Given the description of an element on the screen output the (x, y) to click on. 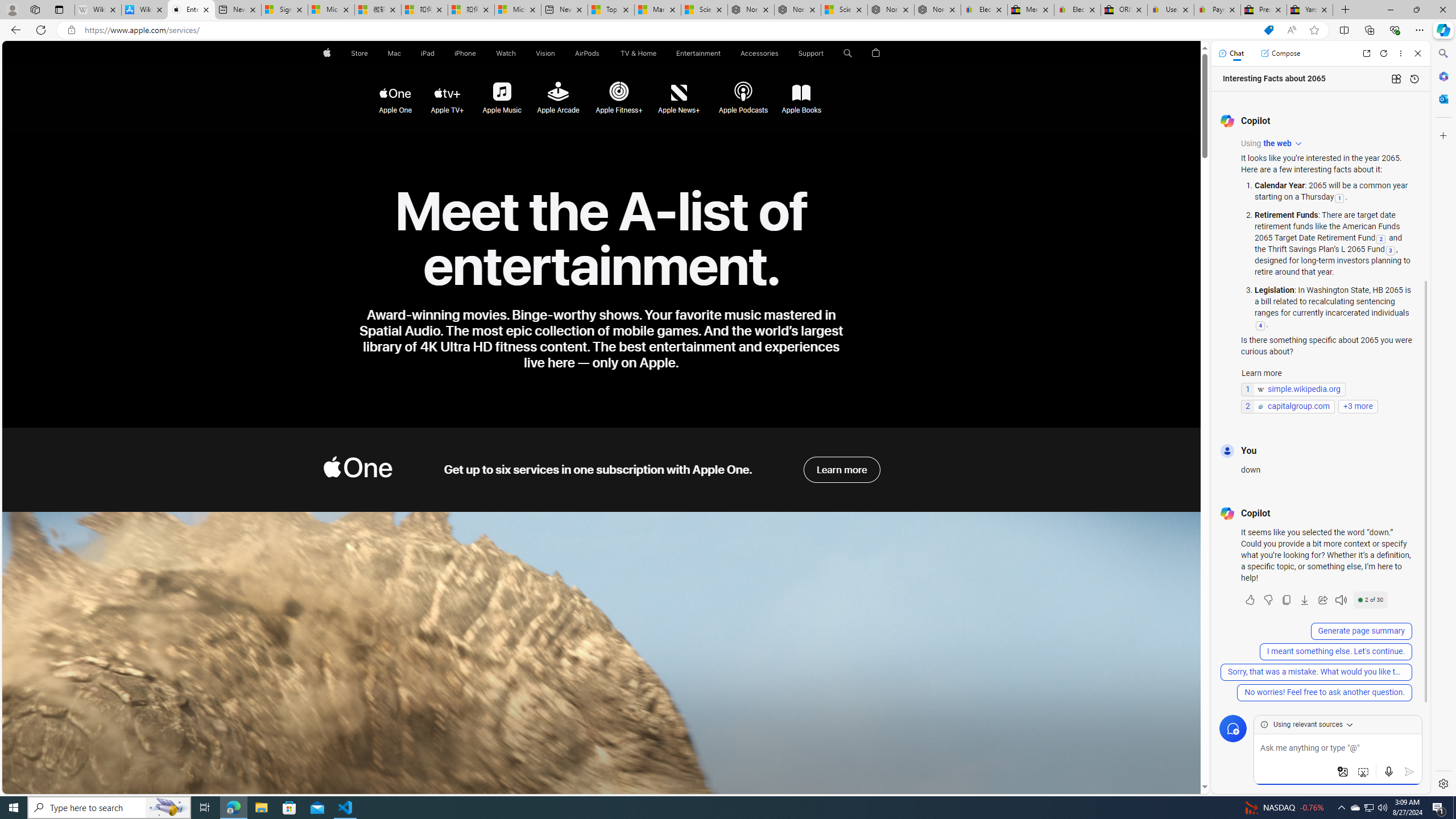
Apple Fitness+ (617, 92)
AirPods (587, 53)
Support menu (825, 53)
TV & Home (637, 53)
Mac menu (402, 53)
Chat (1231, 52)
Class: globalnav-item globalnav-search shift-0-1 (847, 53)
Vision (545, 53)
iPad (427, 53)
Store menu (370, 53)
